Given the description of an element on the screen output the (x, y) to click on. 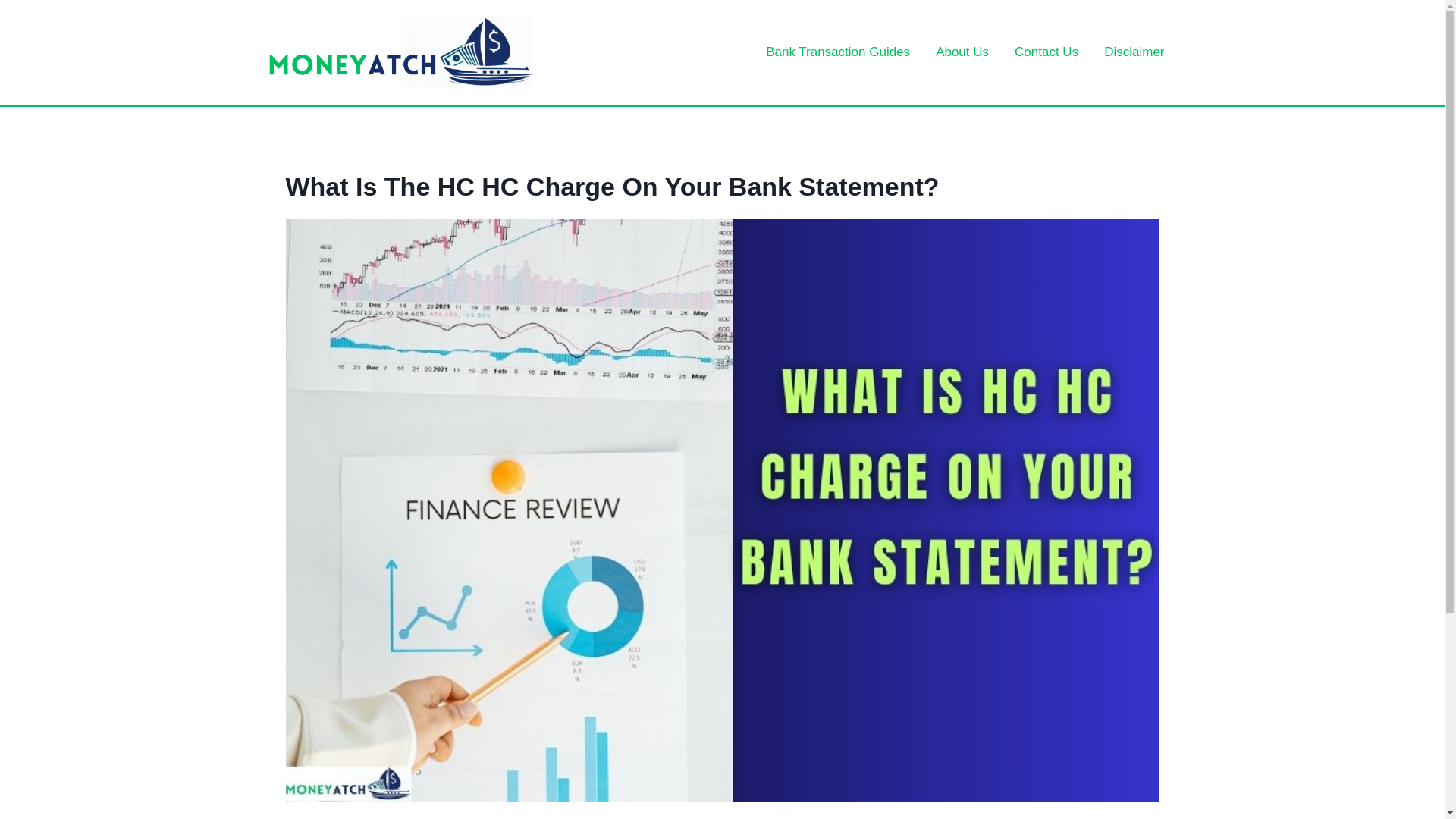
About Us (962, 51)
Bank Transaction Guides (837, 51)
Contact Us (1045, 51)
Disclaimer (1133, 51)
